Given the description of an element on the screen output the (x, y) to click on. 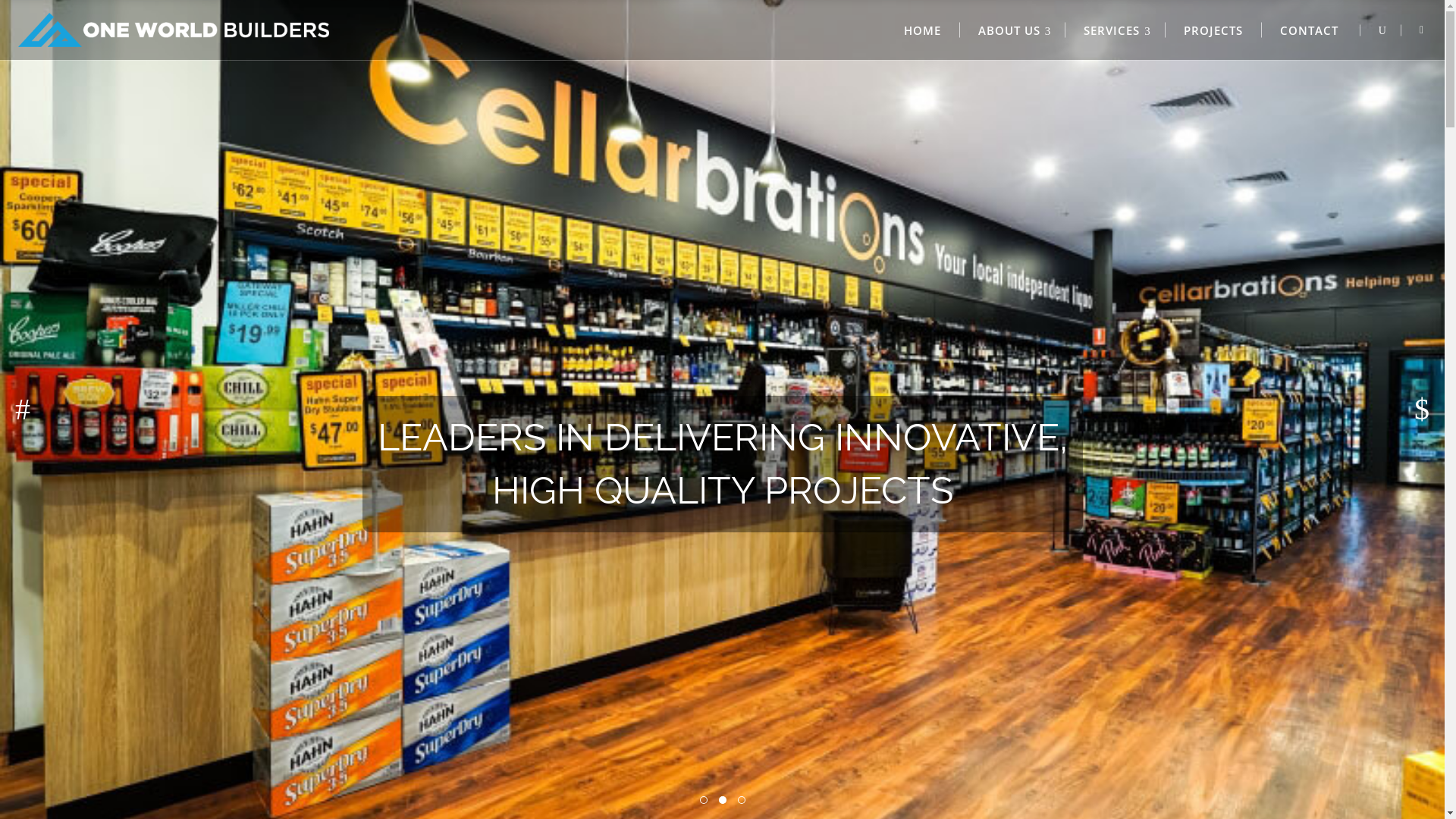
CONTACT Element type: text (1308, 29)
HOME Element type: text (922, 29)
ABOUT US Element type: text (1013, 29)
SERVICES Element type: text (1115, 29)
PROJECTS Element type: text (1213, 29)
